Given the description of an element on the screen output the (x, y) to click on. 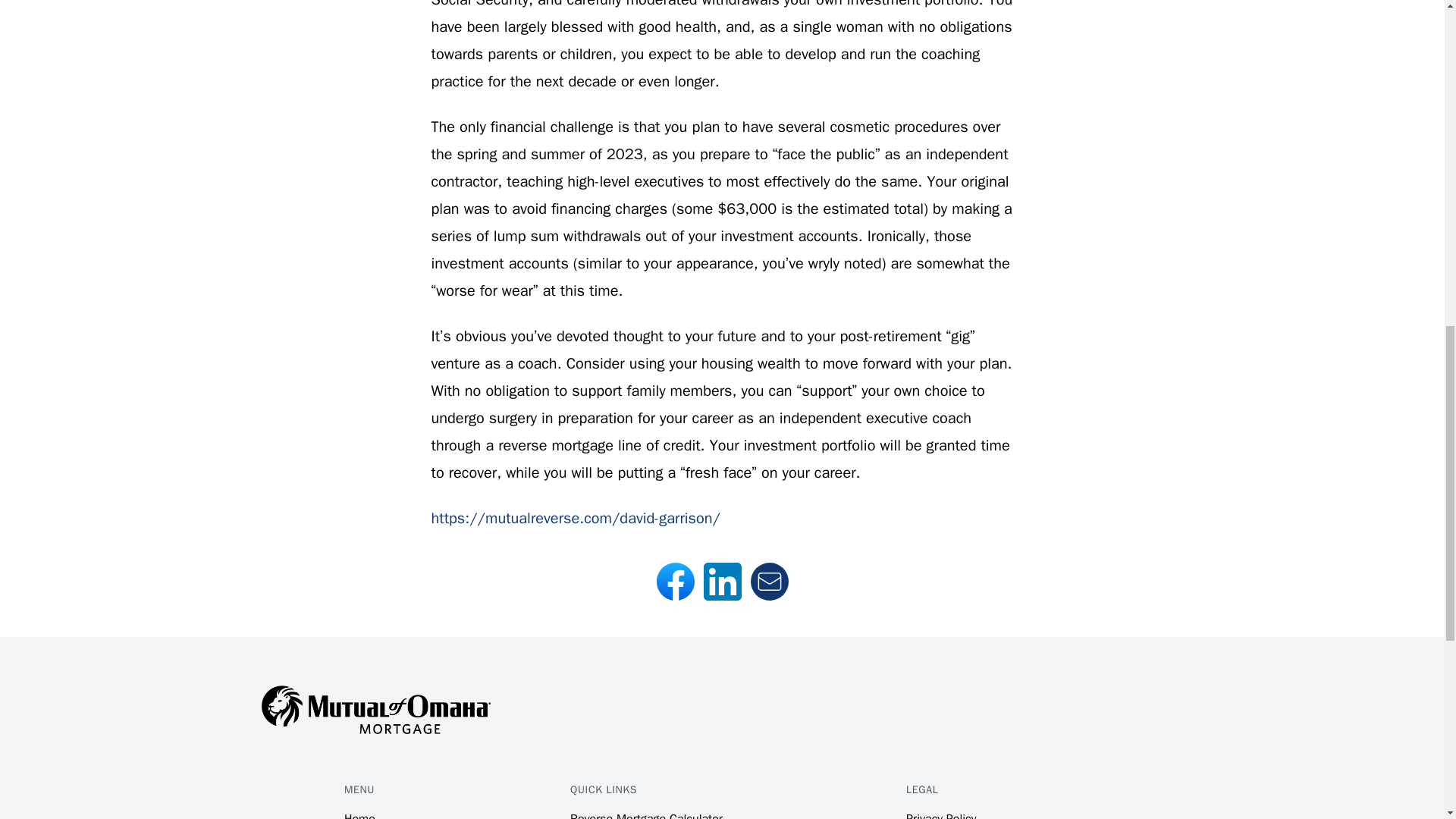
Home (359, 815)
Privacy Policy (940, 815)
Reverse Mortgage Calculator (646, 815)
